Given the description of an element on the screen output the (x, y) to click on. 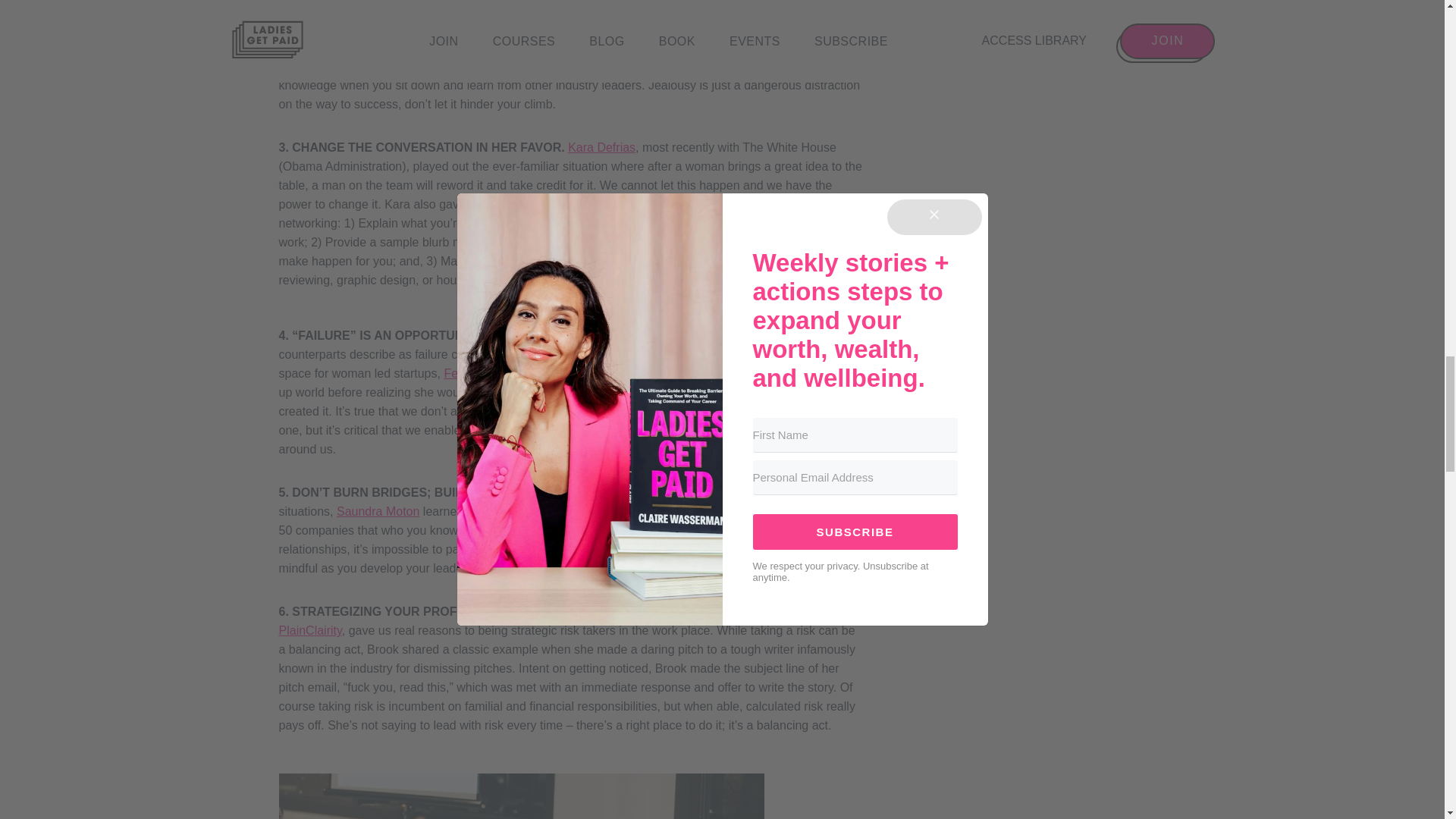
Hera Hub (745, 354)
Felena Hanson (484, 373)
Kara Defrias (600, 146)
PlainClairity (310, 630)
Brook Larios (700, 611)
Saundra Moton (377, 511)
The WE Society (519, 65)
